Given the description of an element on the screen output the (x, y) to click on. 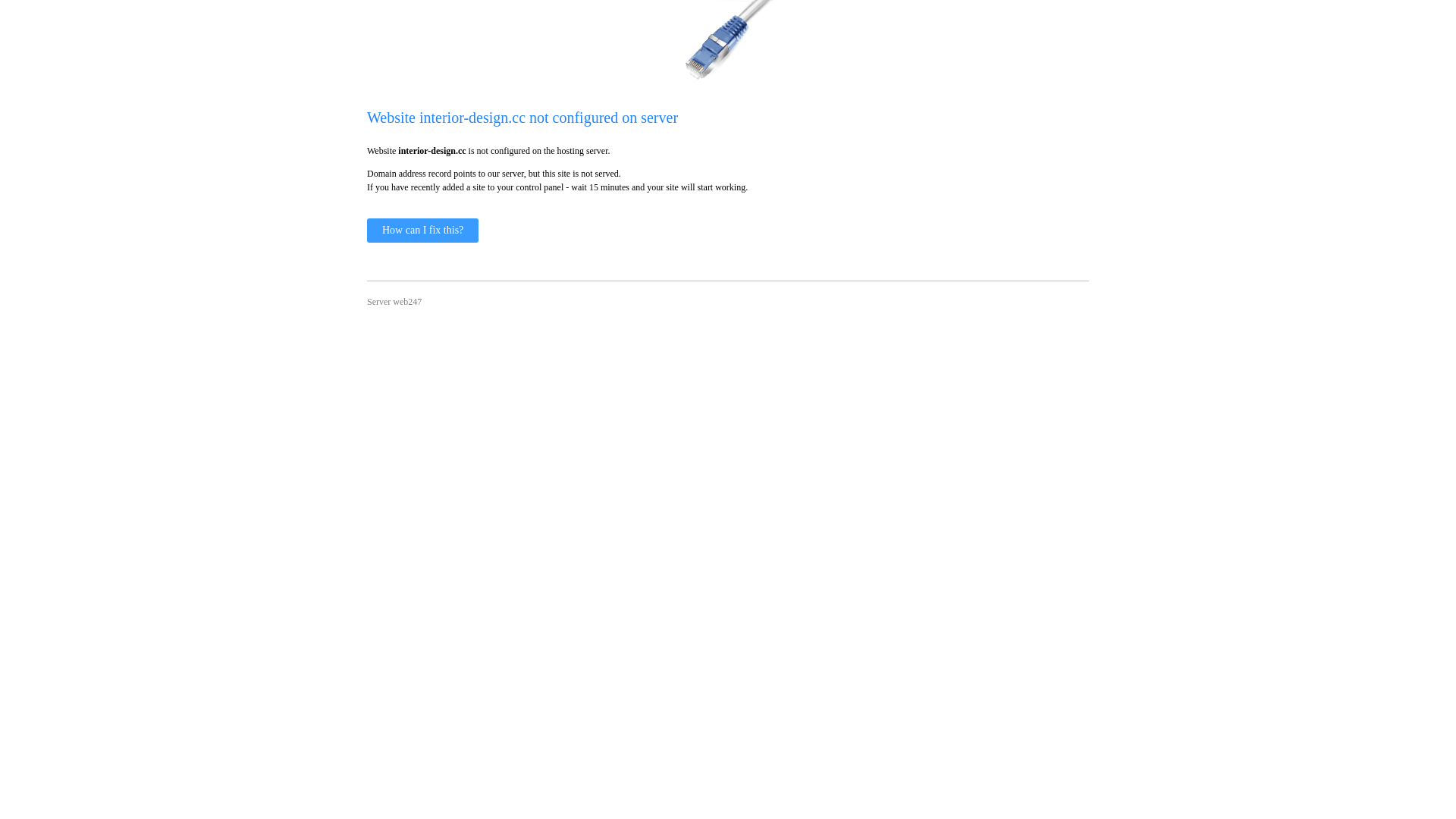
How can I fix this? Element type: text (422, 230)
